Given the description of an element on the screen output the (x, y) to click on. 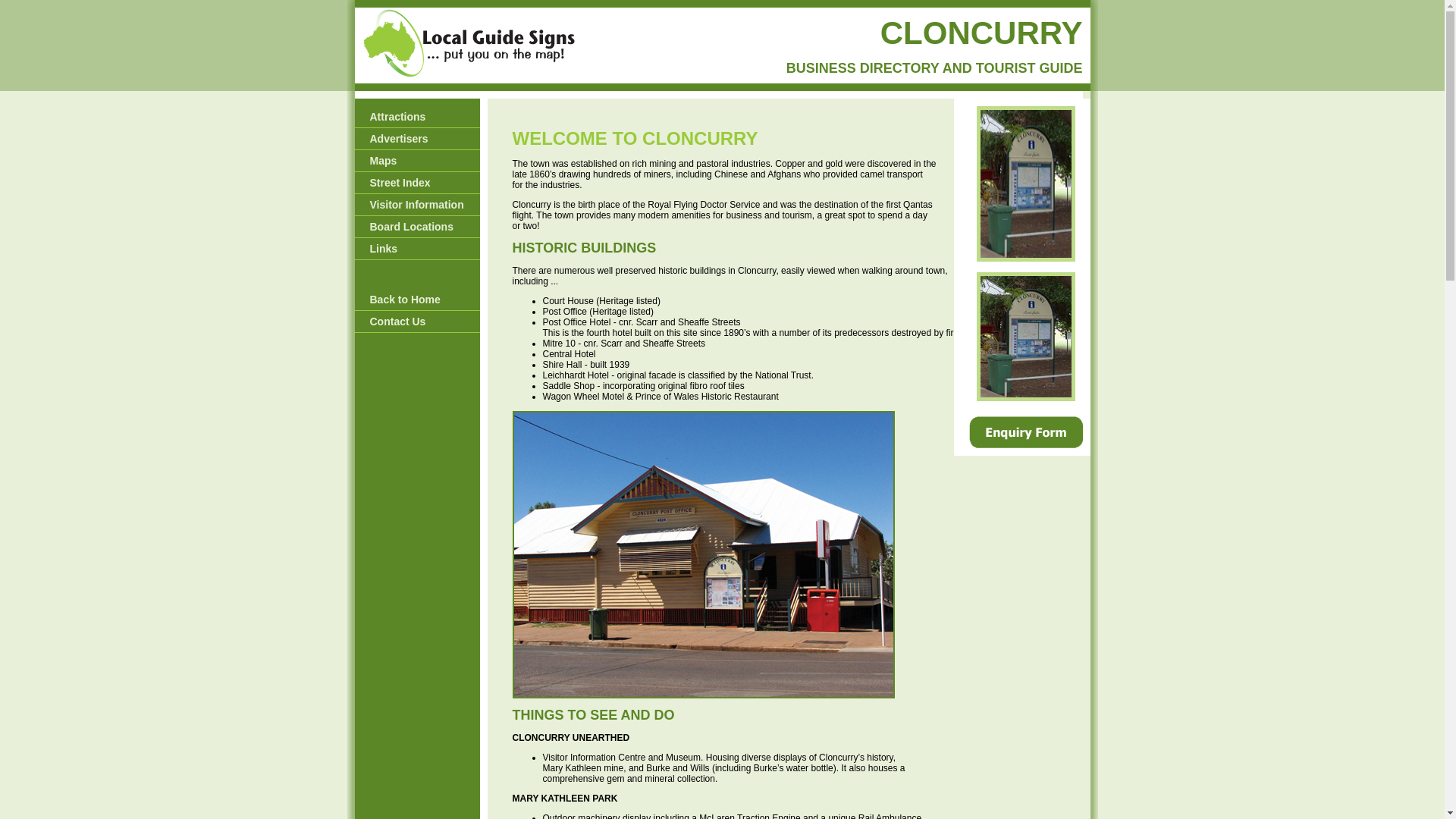
Attractions Element type: text (417, 117)
Cloncurry Post Office Element type: hover (703, 695)
Maps Element type: text (417, 161)
Visitor Information Element type: text (417, 205)
Back to Home Element type: text (417, 299)
Contact Us Element type: text (417, 321)
Board Locations Element type: text (417, 227)
Advertisers Element type: text (417, 139)
Links Element type: text (417, 249)
Street Index Element type: text (417, 183)
